Given the description of an element on the screen output the (x, y) to click on. 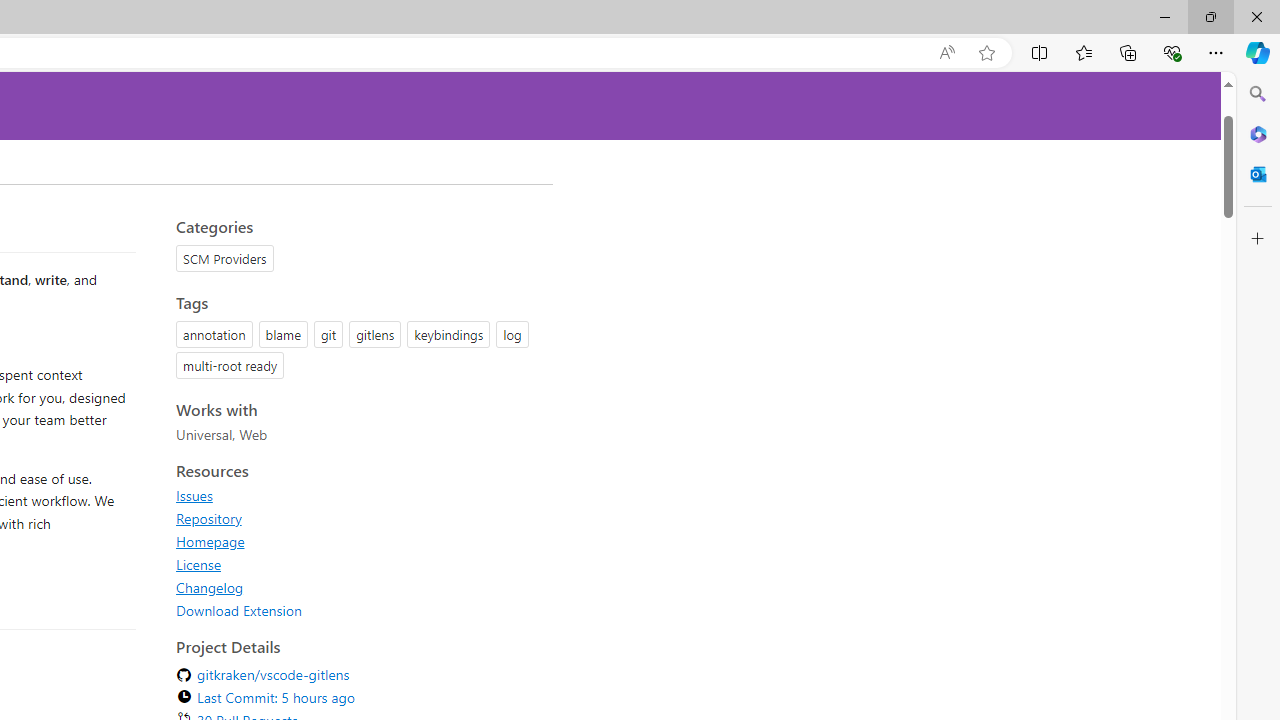
Issues (358, 495)
Changelog (358, 587)
Repository (358, 518)
Changelog (210, 587)
